Given the description of an element on the screen output the (x, y) to click on. 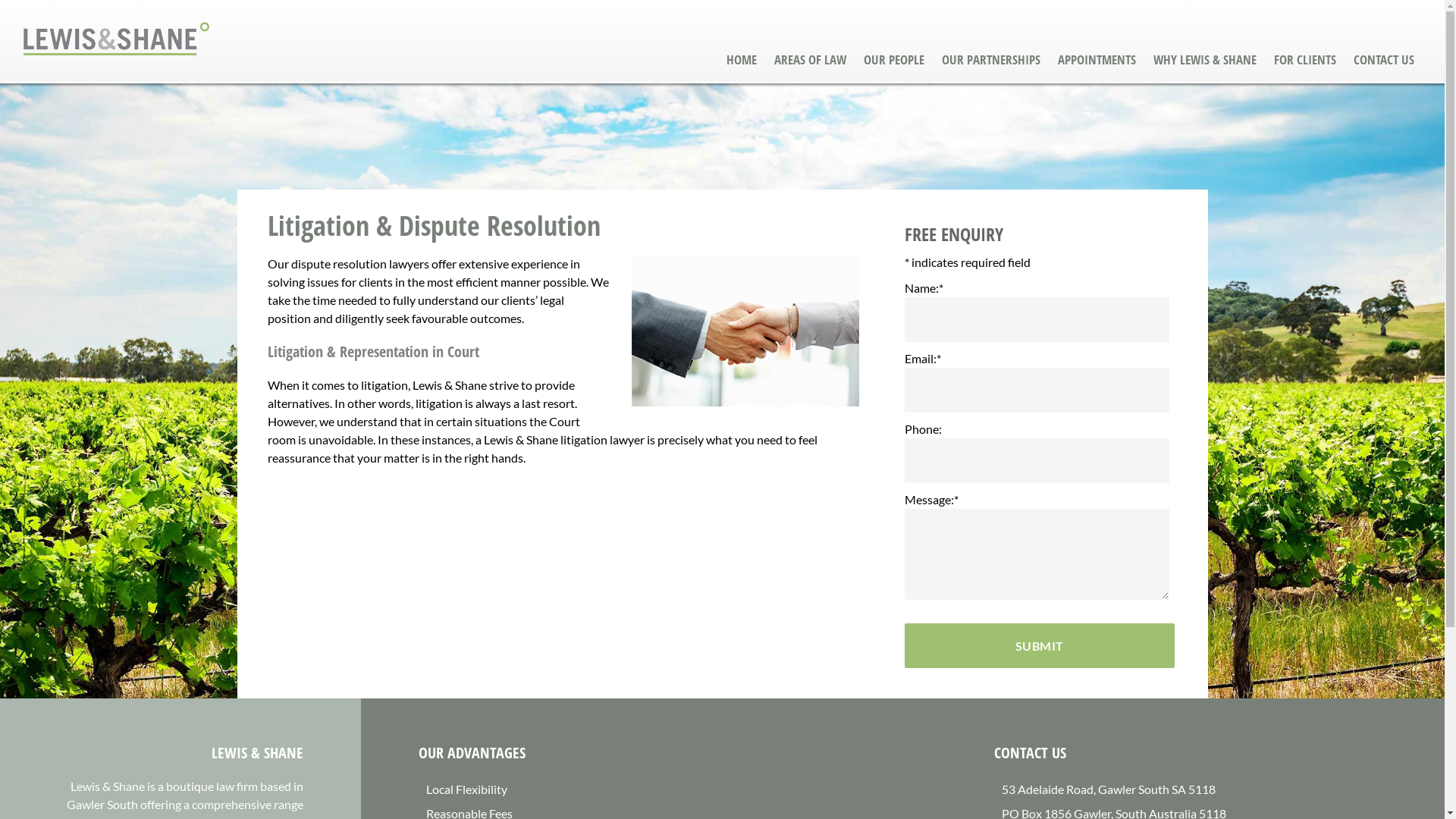
WHY LEWIS & SHANE Element type: text (1204, 59)
HOME Element type: text (741, 59)
CONTACT US Element type: text (1383, 59)
Submit Element type: text (1038, 645)
APPOINTMENTS Element type: text (1096, 59)
Lewis & Shane Element type: hover (116, 66)
FOR CLIENTS Element type: text (1304, 59)
OUR PEOPLE Element type: text (893, 59)
OUR PARTNERSHIPS Element type: text (991, 59)
Skip to main content Element type: text (0, 0)
AREAS OF LAW Element type: text (809, 59)
